Given the description of an element on the screen output the (x, y) to click on. 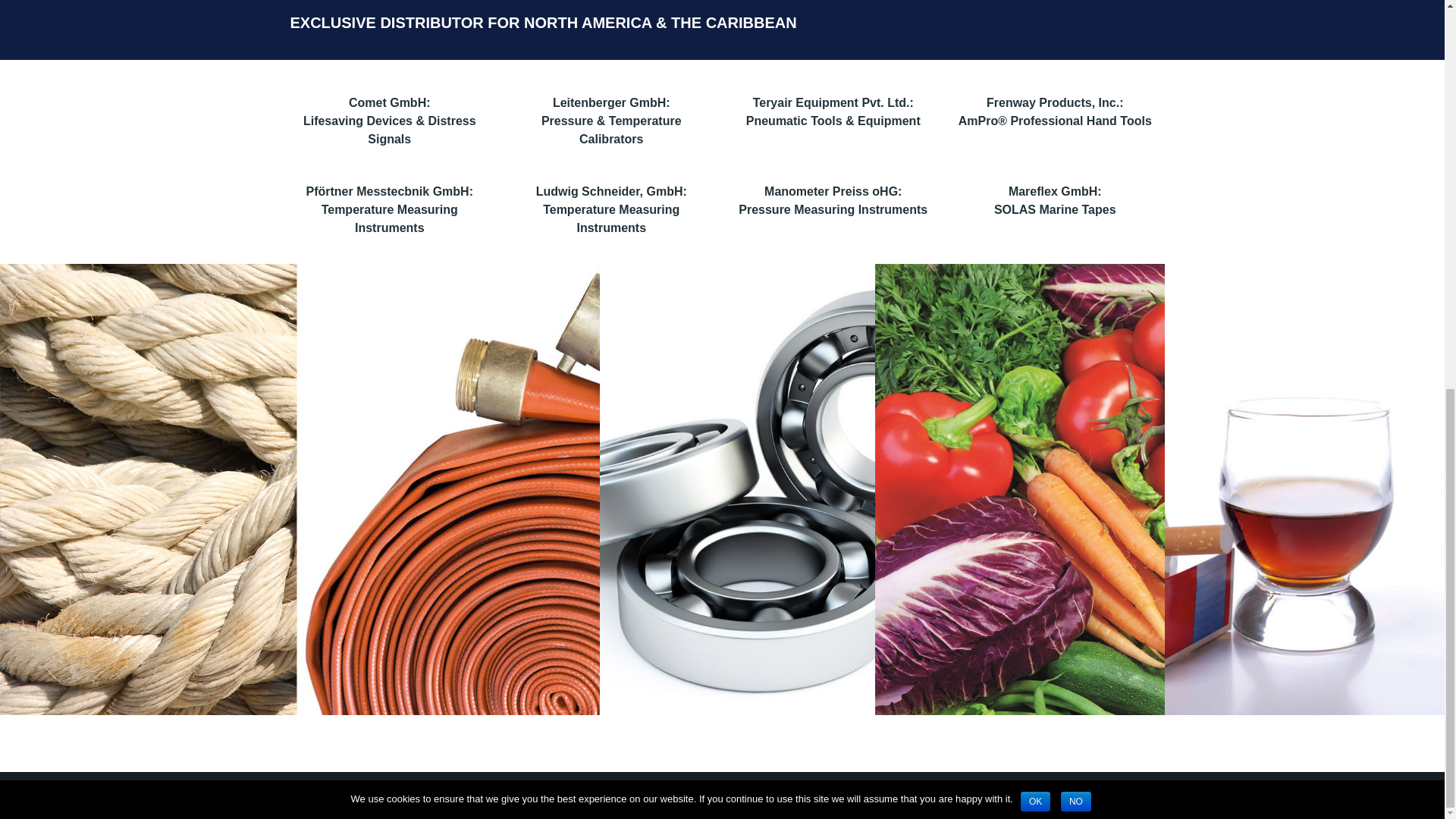
NO (1075, 62)
GricGroup (487, 795)
OK (1034, 62)
